Given the description of an element on the screen output the (x, y) to click on. 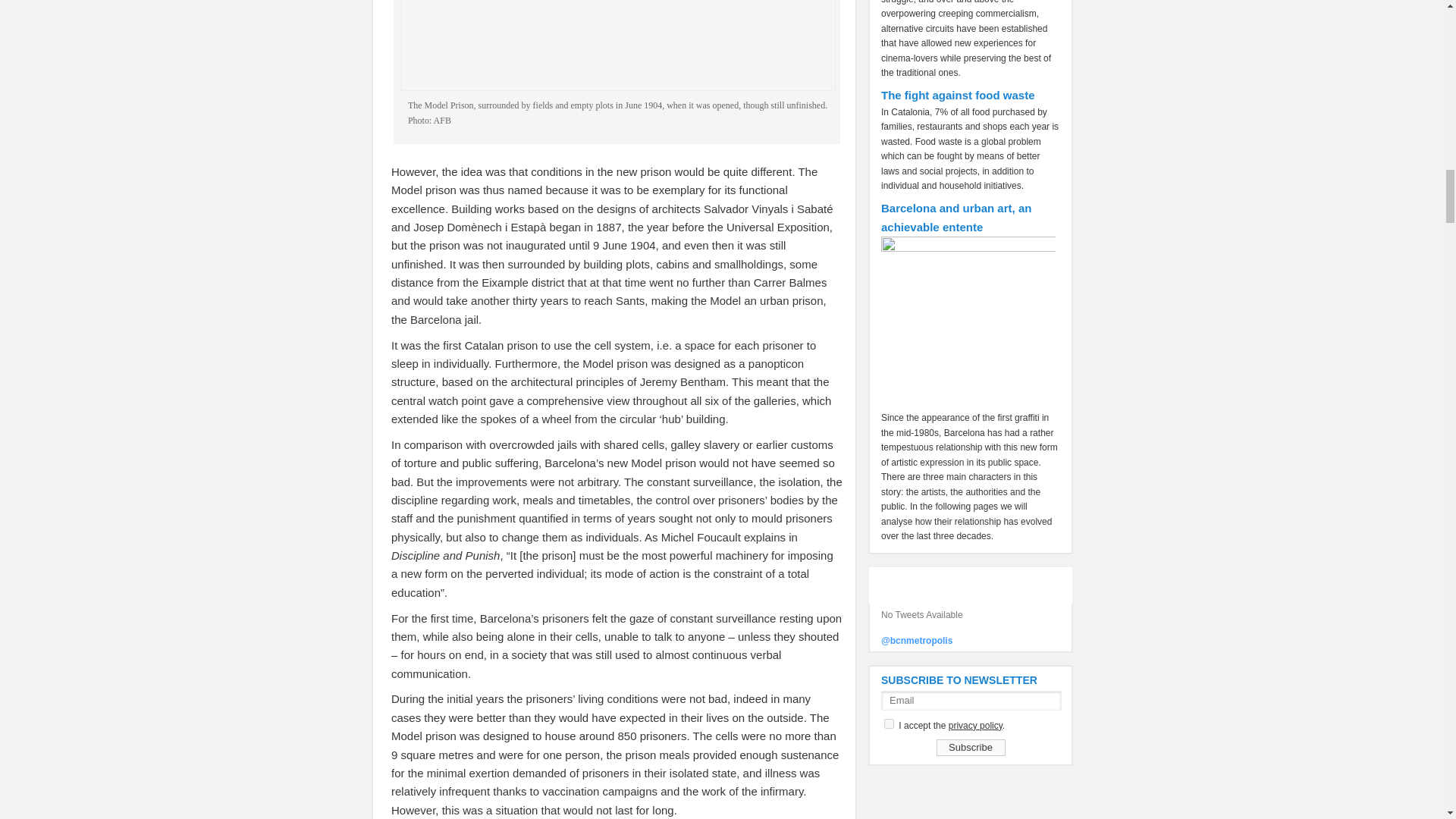
on (888, 723)
Reportatges 02 EN (617, 45)
Subscribe (970, 747)
